Given the description of an element on the screen output the (x, y) to click on. 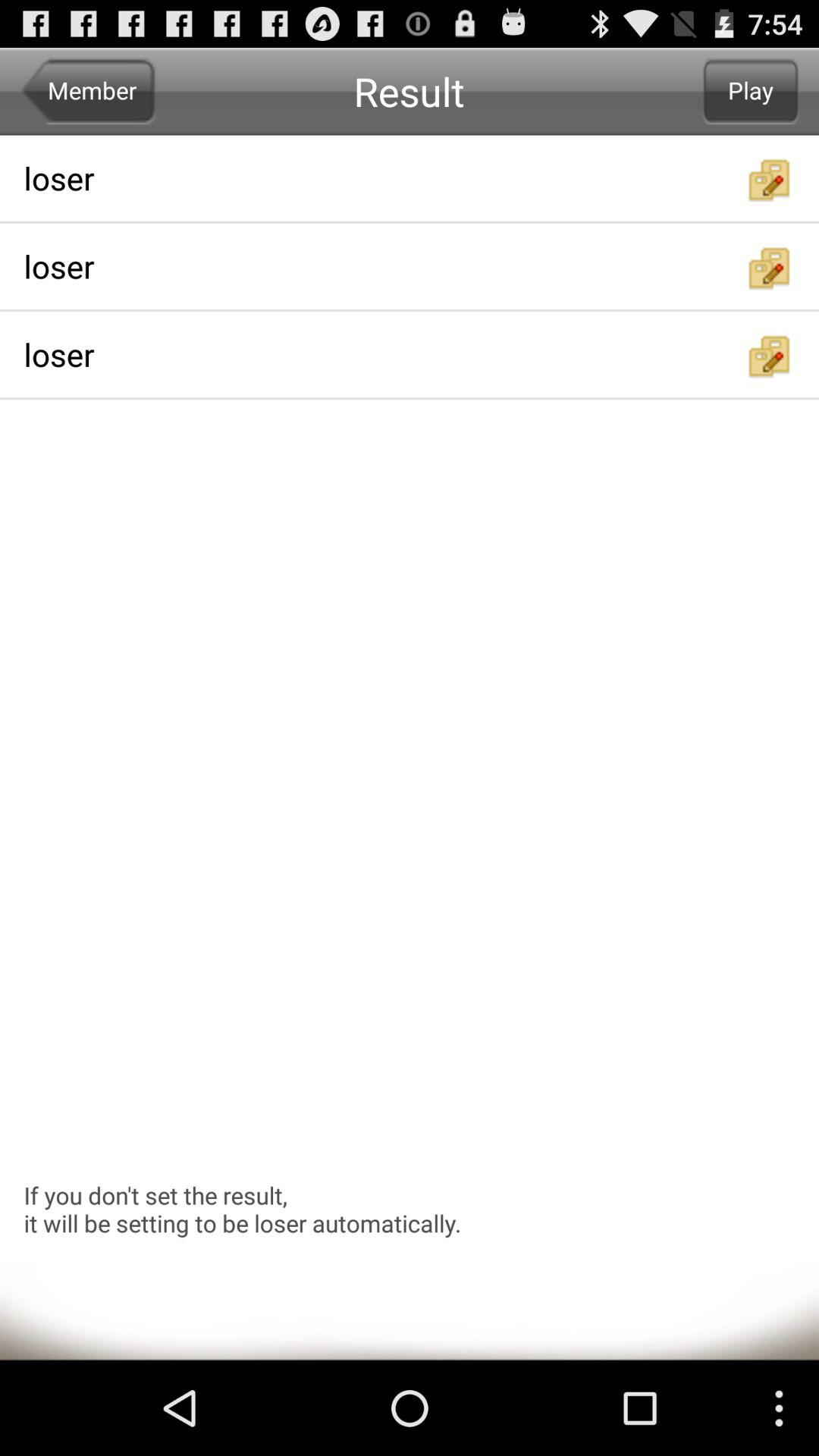
launch play icon (750, 91)
